Given the description of an element on the screen output the (x, y) to click on. 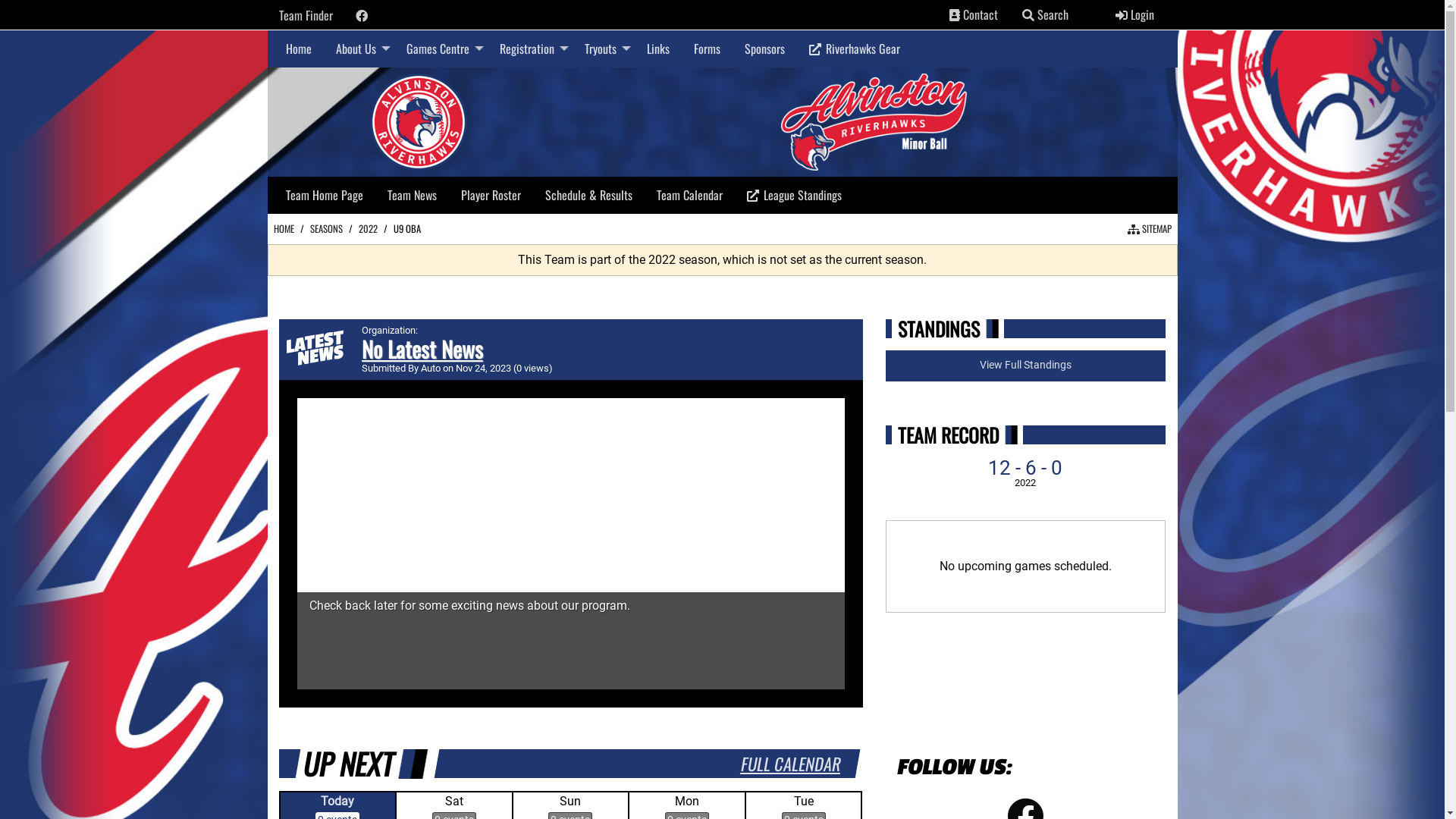
 SITEMAP Element type: text (1148, 228)
Contacts Element type: hover (954, 15)
Forms Element type: text (705, 48)
About Us Element type: text (358, 48)
Search Element type: hover (1028, 15)
HOME Element type: text (283, 228)
View Full Standings Element type: text (1025, 365)
Team Home Page Element type: text (323, 194)
FULL CALENDAR Element type: text (790, 762)
League Standings Element type: text (793, 195)
2022 Element type: text (366, 228)
 Contact Element type: text (973, 14)
SEASONS Element type: text (325, 228)
Sponsors Element type: text (764, 48)
12 - 6 - 0 Element type: text (1025, 467)
Games Centre Element type: text (440, 48)
Registration Element type: text (528, 48)
Team Calendar Element type: text (689, 194)
Schedule & Results Element type: text (587, 194)
 Login Element type: text (1133, 14)
Riverhawks Gear Element type: text (853, 48)
 Search Element type: text (1045, 14)
Links Element type: text (656, 48)
Team Finder Element type: text (305, 15)
Home Element type: text (298, 48)
Tryouts Element type: text (602, 48)
Team News Element type: text (411, 194)
Facebook Element type: hover (360, 15)
No Latest News Element type: text (422, 348)
Player Roster Element type: text (490, 194)
